Given the description of an element on the screen output the (x, y) to click on. 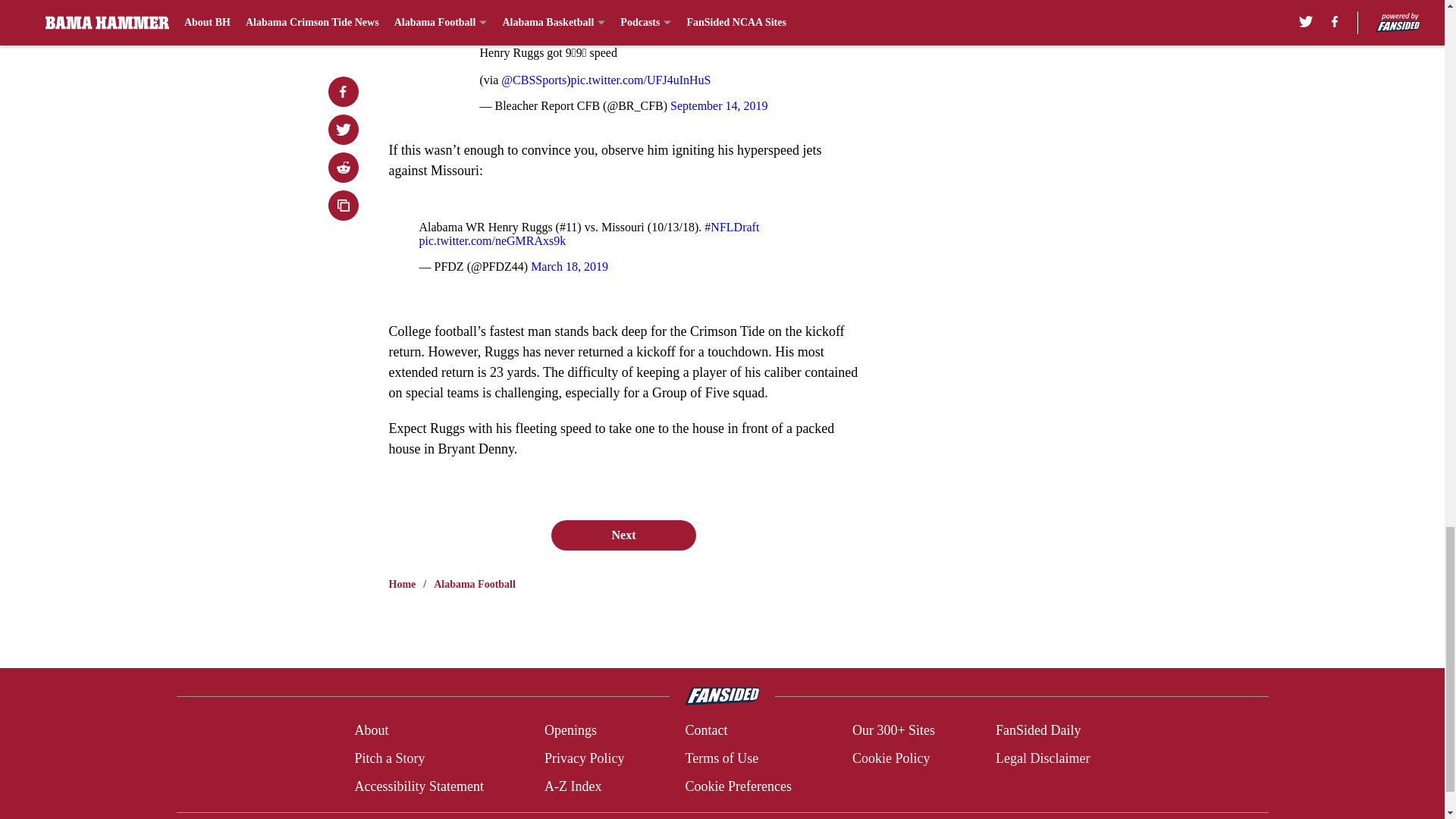
About (370, 730)
Alabama Football (474, 584)
Next (622, 535)
March 18, 2019 (569, 266)
Contact (705, 730)
Openings (570, 730)
Home (401, 584)
September 14, 2019 (718, 105)
